Given the description of an element on the screen output the (x, y) to click on. 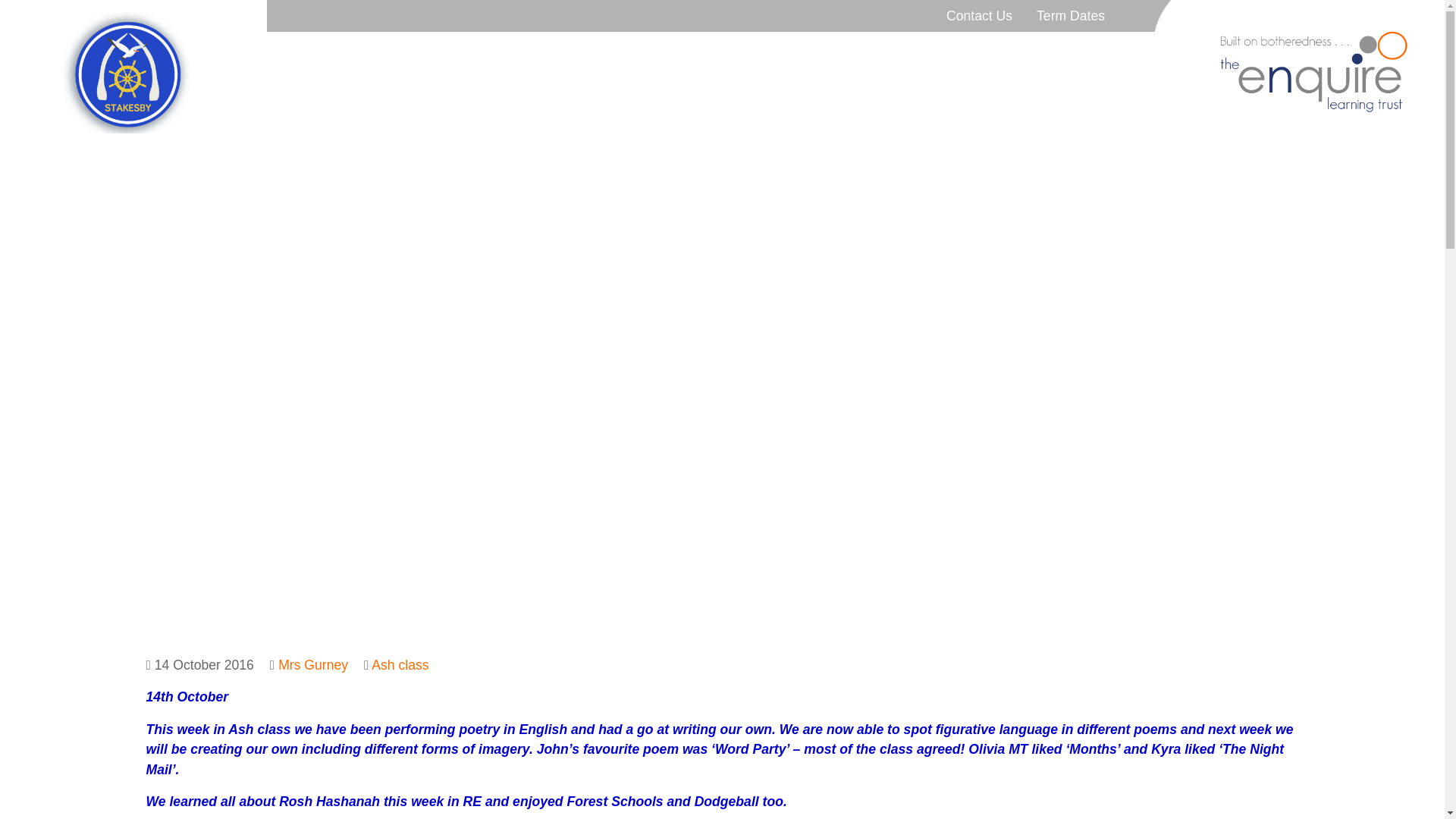
Term Dates (1070, 15)
News (632, 60)
Contact Us (979, 15)
Facebook (1126, 60)
Important Information (838, 60)
Parents (712, 60)
Our School (544, 60)
